Given the description of an element on the screen output the (x, y) to click on. 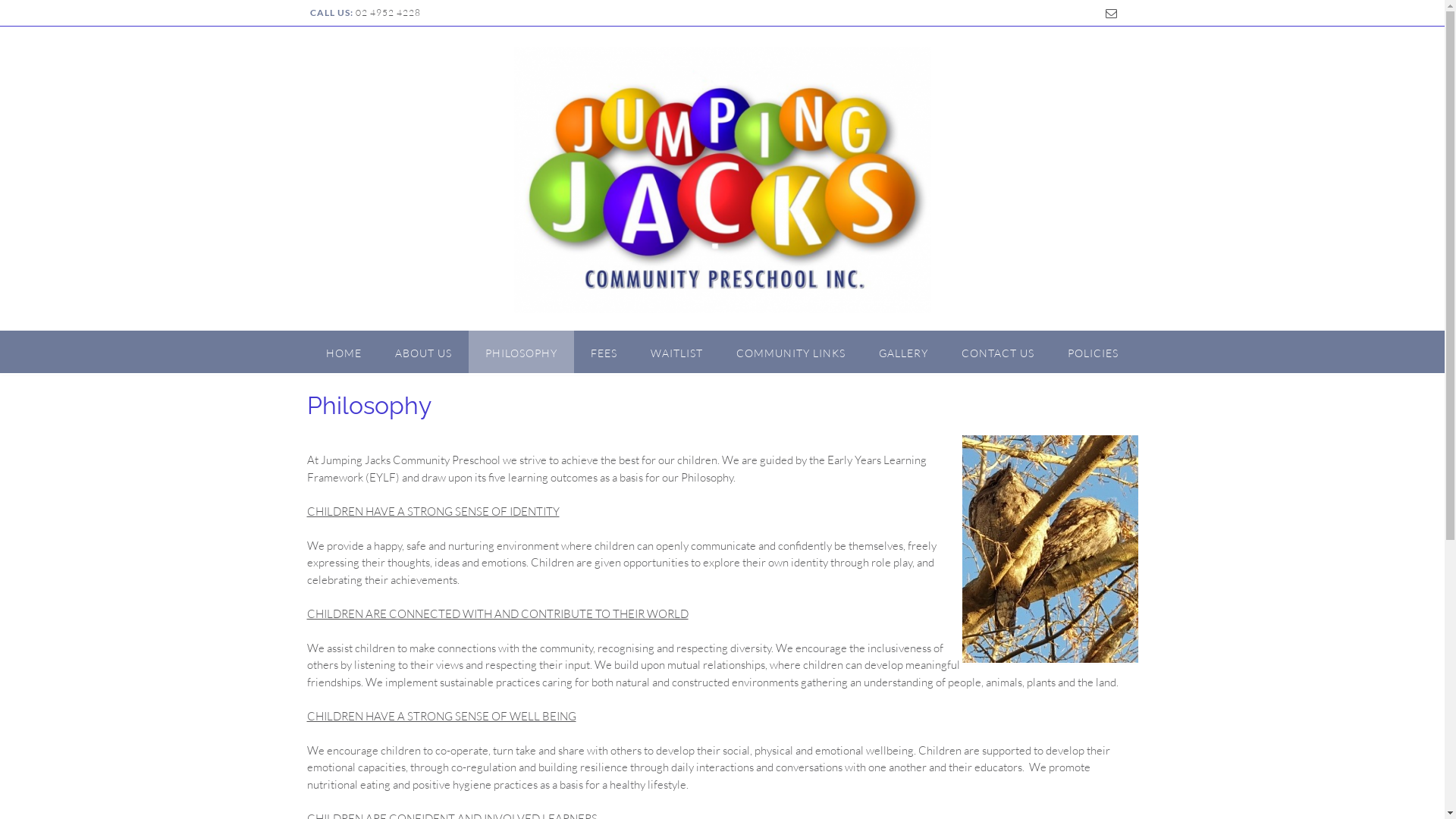
GALLERY Element type: text (903, 351)
HOME Element type: text (343, 351)
ABOUT US Element type: text (423, 351)
POLICIES Element type: text (1093, 351)
FEES Element type: text (603, 351)
COMMUNITY LINKS Element type: text (790, 351)
PHILOSOPHY Element type: text (521, 351)
WAITLIST Element type: text (676, 351)
Send us an email Element type: hover (1110, 12)
CONTACT US Element type: text (997, 351)
